Given the description of an element on the screen output the (x, y) to click on. 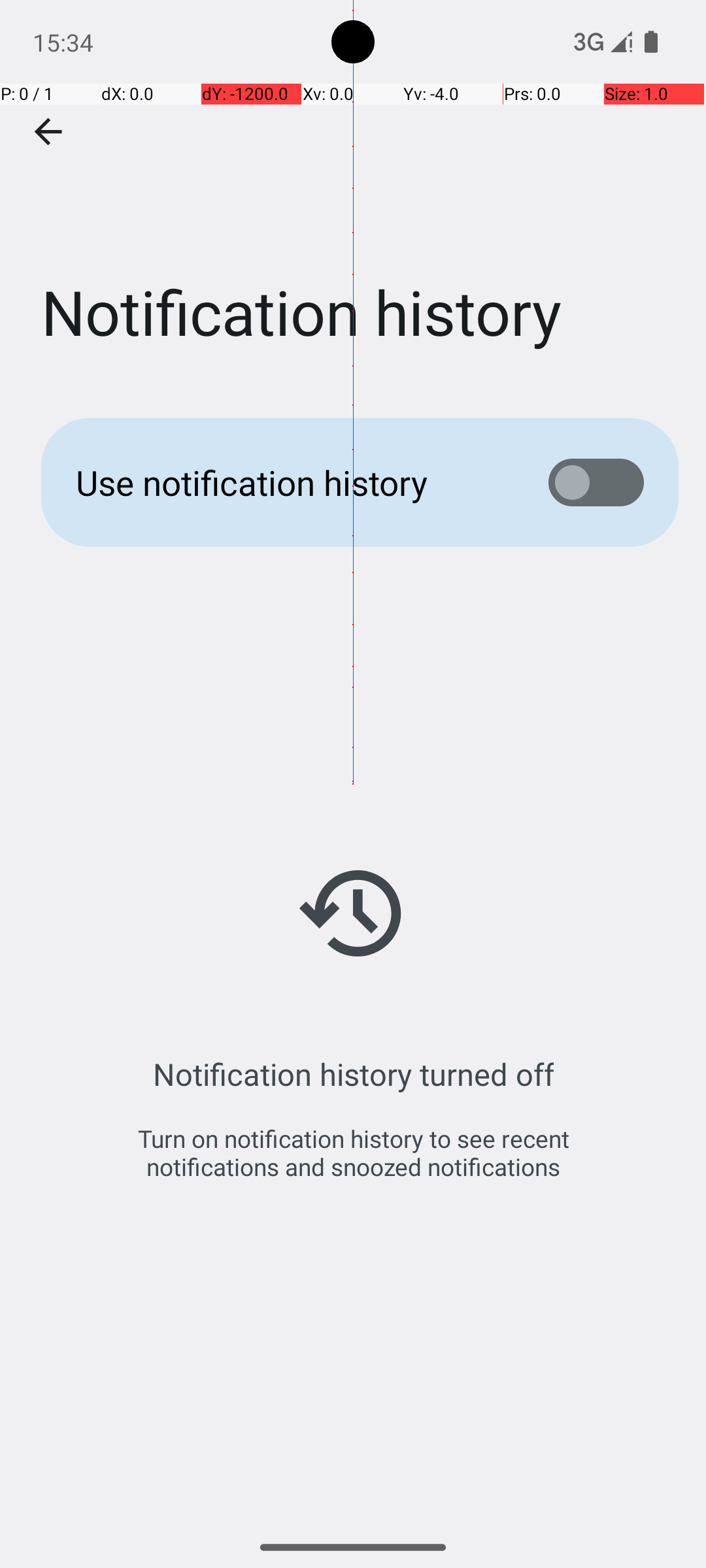
Notification history Element type: android.widget.FrameLayout (353, 195)
Notification history turned off Element type: android.widget.TextView (352, 1073)
Turn on notification history to see recent notifications and snoozed notifications Element type: android.widget.TextView (352, 1152)
Use notification history Element type: android.widget.TextView (291, 482)
